Given the description of an element on the screen output the (x, y) to click on. 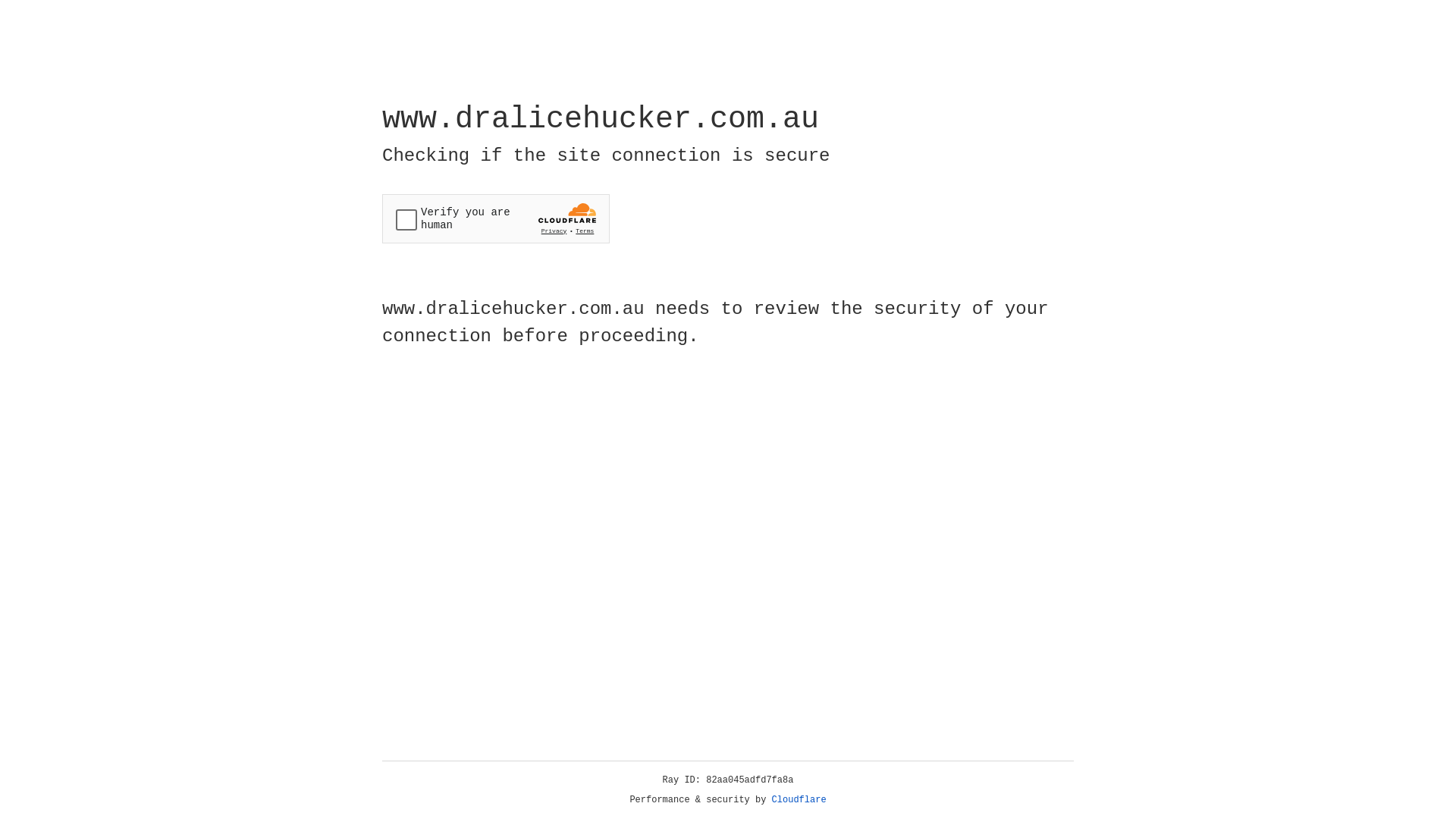
Widget containing a Cloudflare security challenge Element type: hover (495, 218)
Cloudflare Element type: text (798, 799)
